Given the description of an element on the screen output the (x, y) to click on. 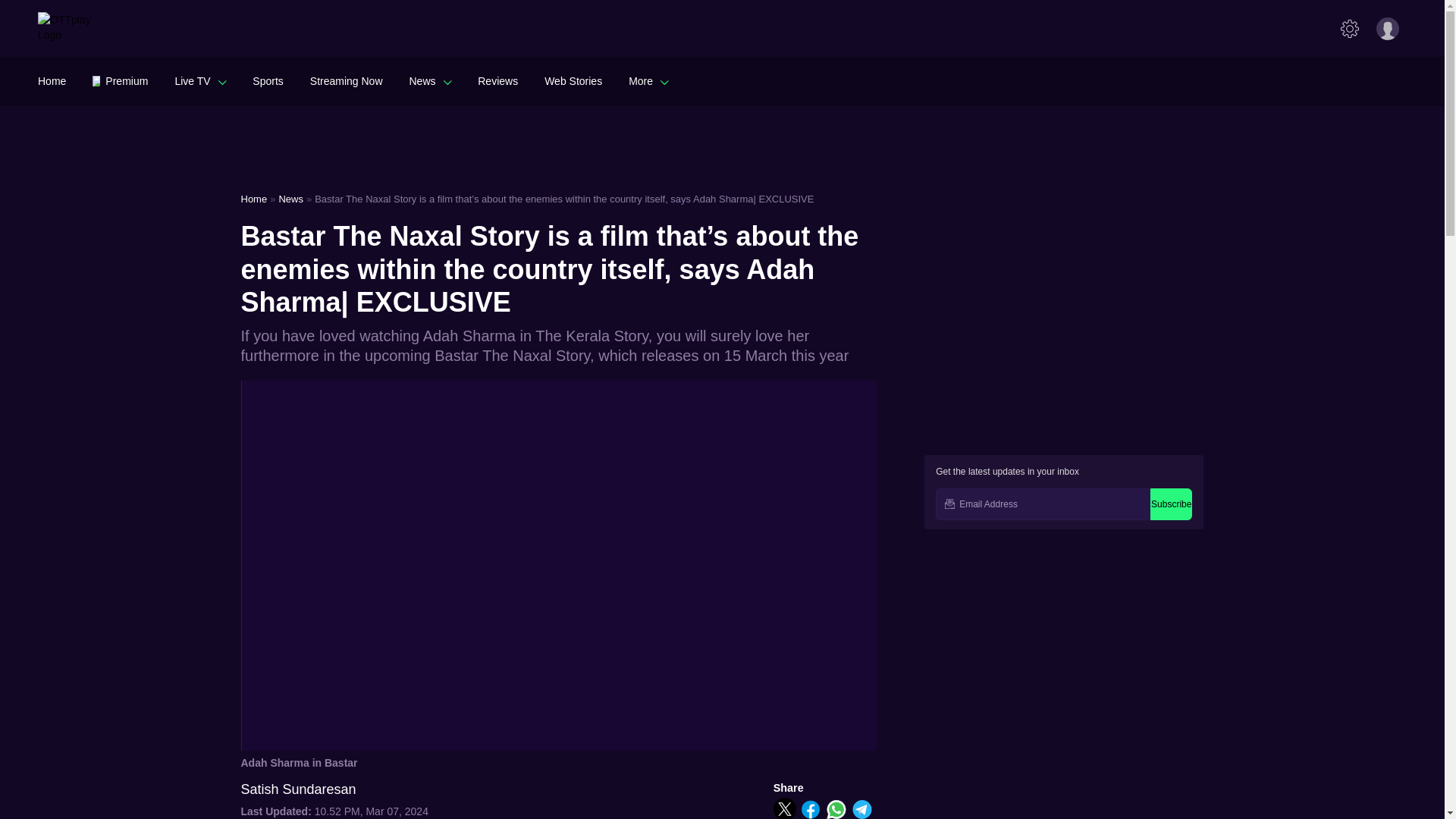
News (430, 80)
Web Stories (573, 80)
Live TV (199, 80)
Premium (120, 80)
Streaming Now (346, 80)
